Given the description of an element on the screen output the (x, y) to click on. 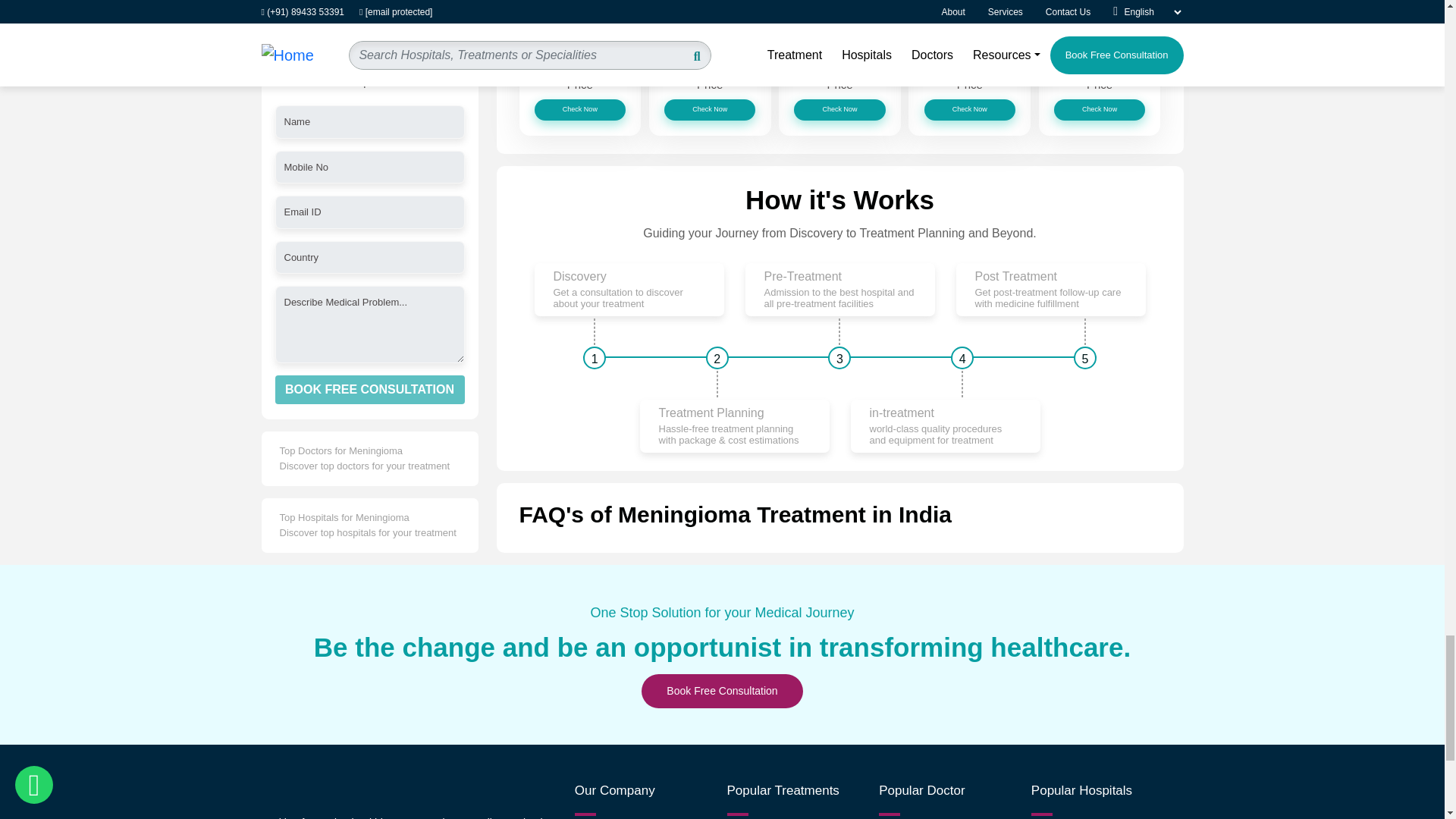
Check Now (580, 109)
Check Now (839, 109)
Check Now (1099, 109)
Book Free Consultation (722, 691)
Check Now (709, 109)
Check Now (970, 109)
